Given the description of an element on the screen output the (x, y) to click on. 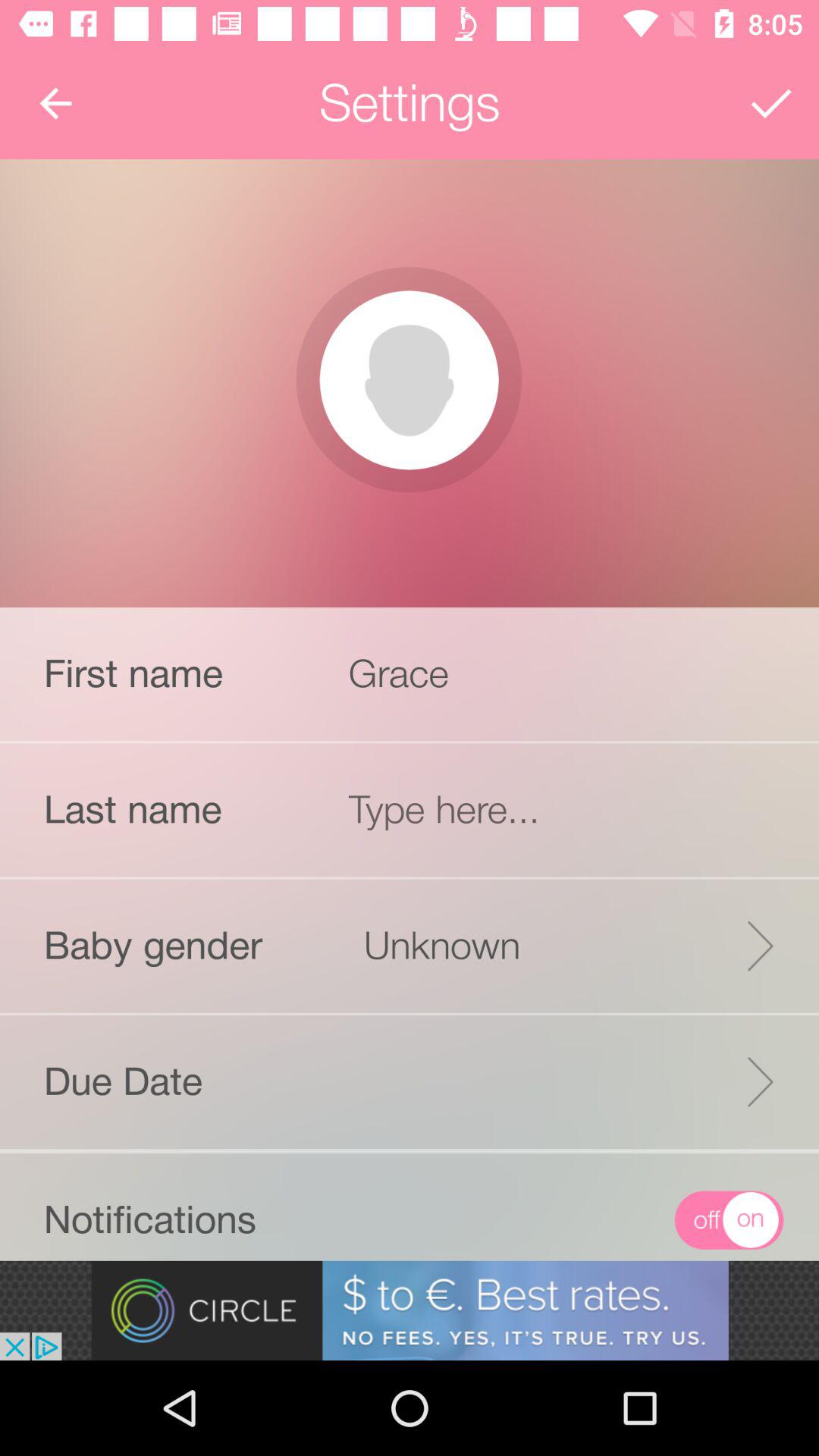
enter text (566, 809)
